Given the description of an element on the screen output the (x, y) to click on. 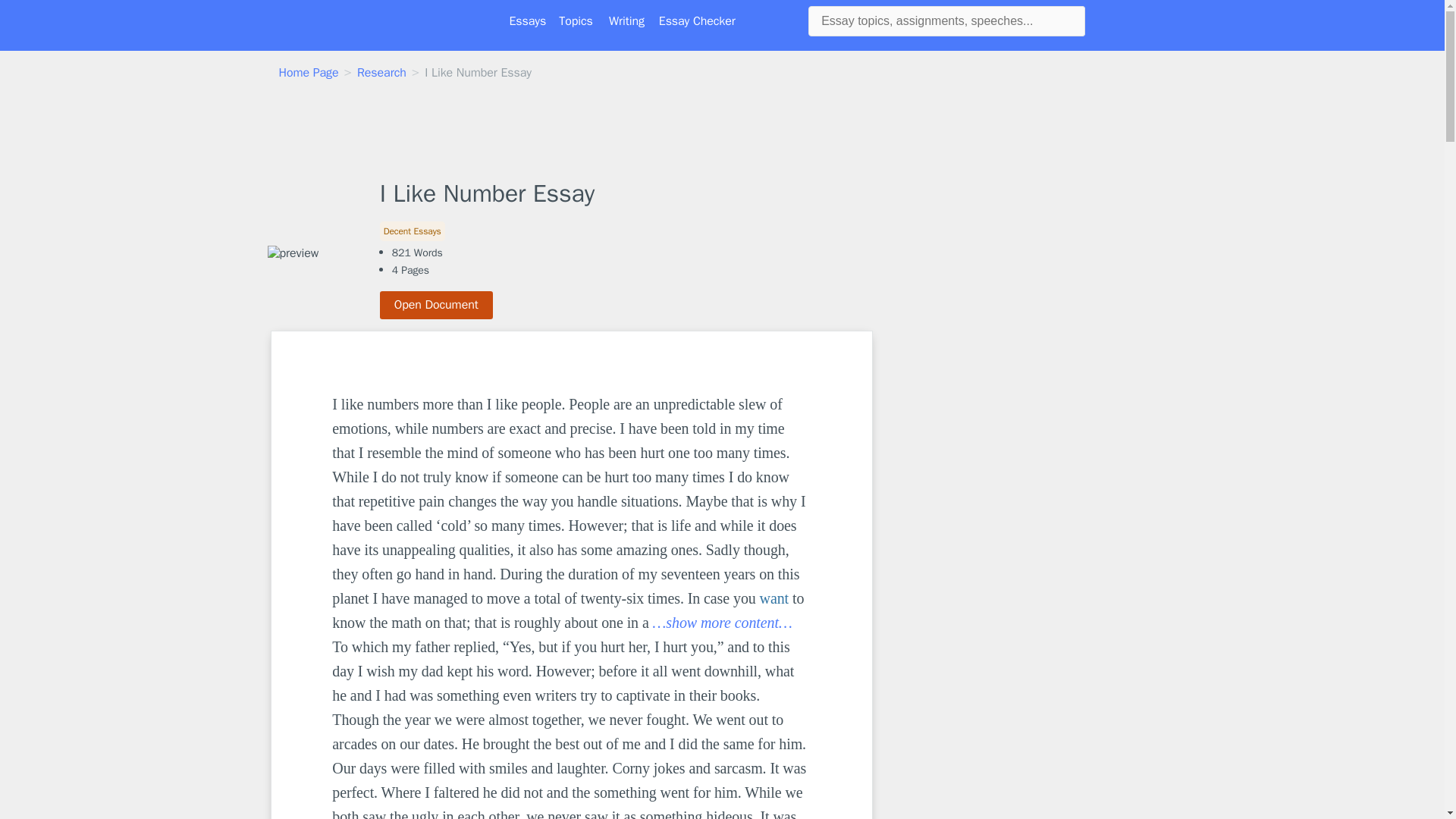
Research (381, 72)
Essays (528, 20)
Home Page (309, 72)
want (774, 597)
Topics (575, 20)
Essay Checker (697, 20)
Open Document (436, 305)
Writing (626, 20)
